Given the description of an element on the screen output the (x, y) to click on. 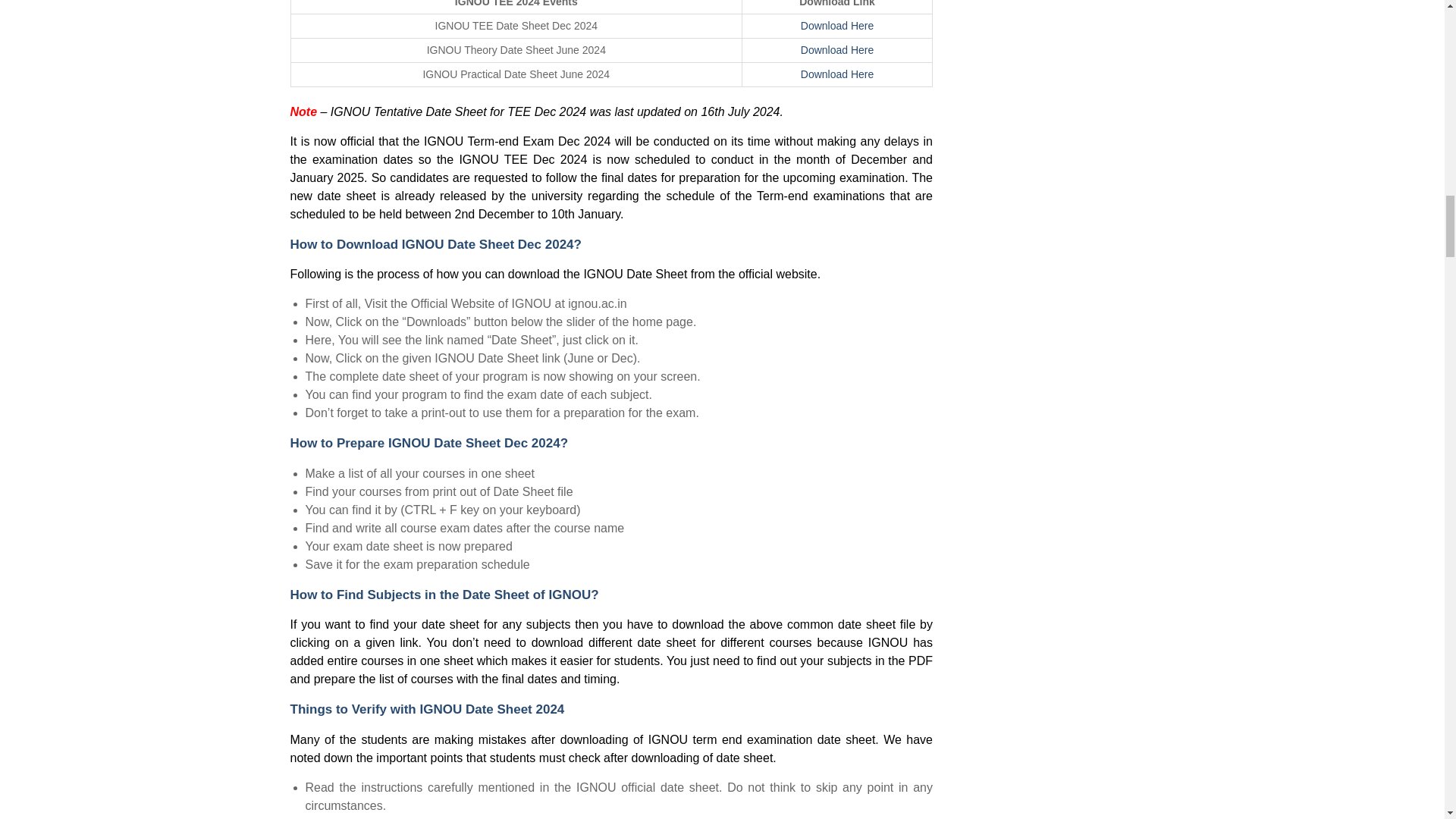
Download Here (837, 50)
Download Here (837, 25)
Download Here (837, 73)
